Given the description of an element on the screen output the (x, y) to click on. 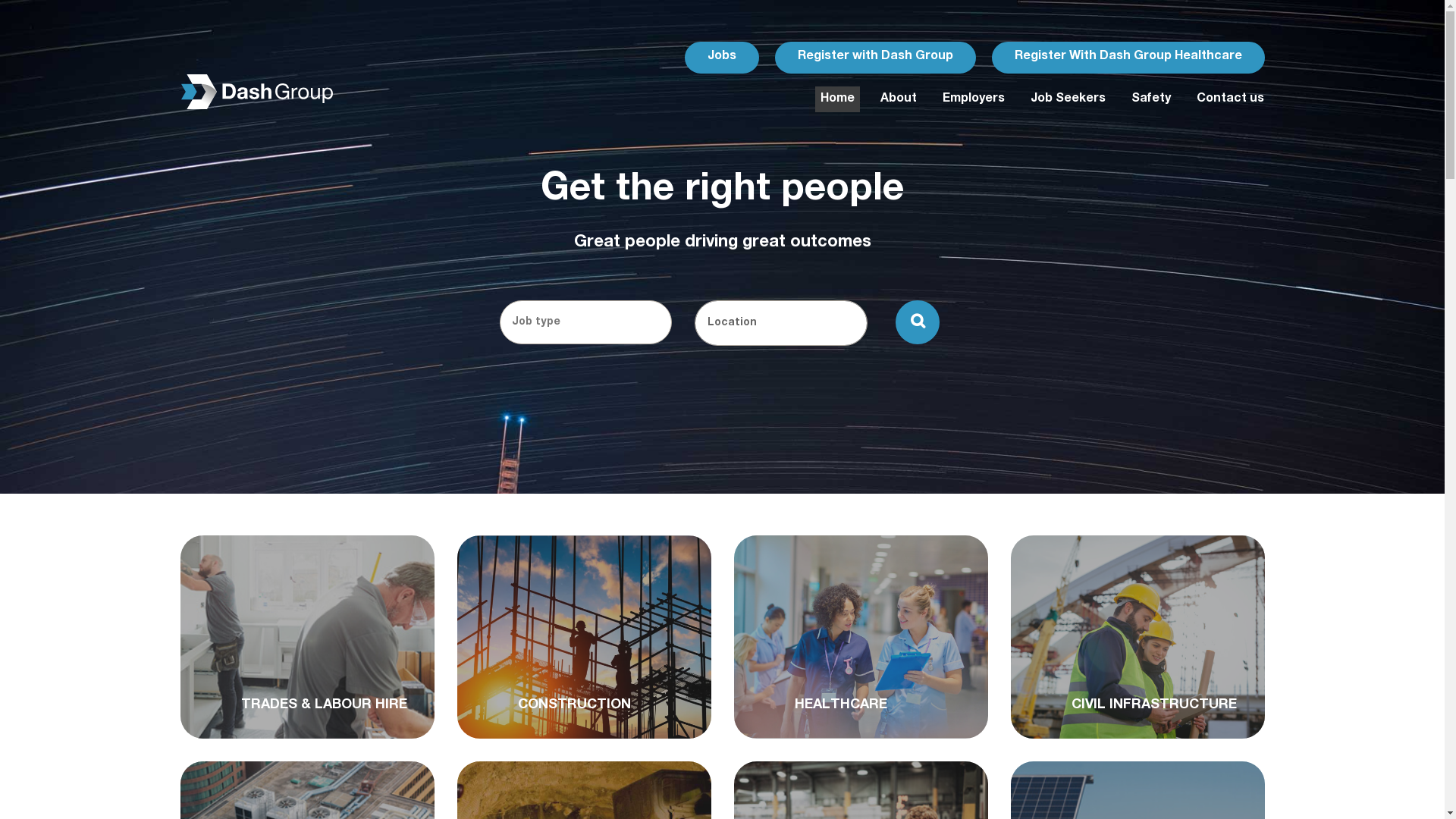
Job Seekers Element type: text (1067, 99)
Register With Dash Group Healthcare Element type: text (1127, 56)
Employers Element type: text (973, 99)
CIVIL INFRASTRUCTURE Element type: text (1130, 705)
Safety Element type: text (1150, 99)
About Element type: text (898, 99)
Contact us Element type: text (1226, 99)
CONSTRUCTION Element type: text (550, 705)
Register with Dash Group Element type: text (875, 56)
HEALTHCARE Element type: text (818, 705)
Home Element type: text (836, 99)
Jobs Element type: text (721, 56)
TRADES & LABOUR HIRE Element type: text (301, 705)
